Given the description of an element on the screen output the (x, y) to click on. 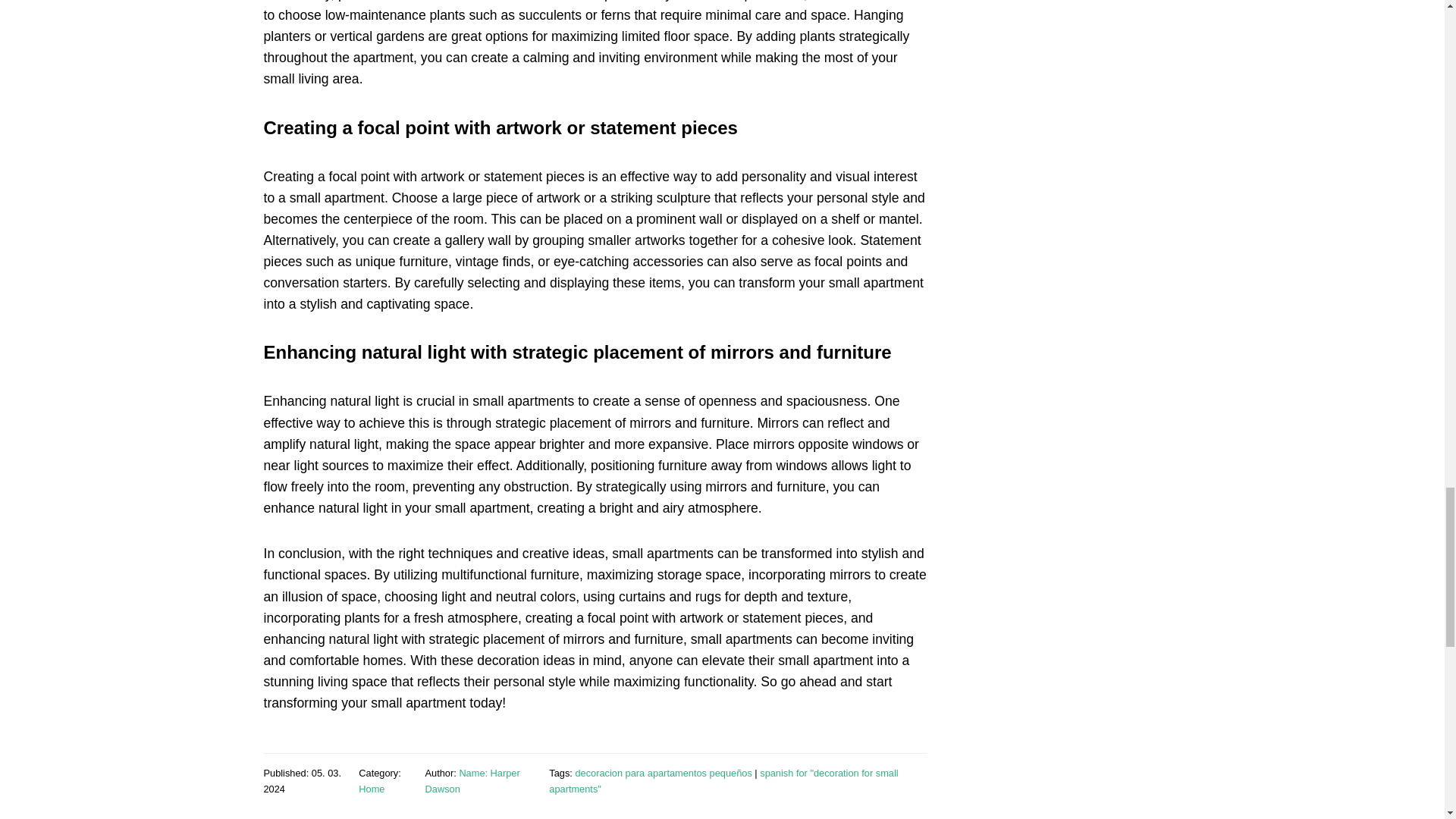
Home (371, 788)
Name: Harper Dawson (472, 780)
spanish for "decoration for small apartments" (723, 780)
